Given the description of an element on the screen output the (x, y) to click on. 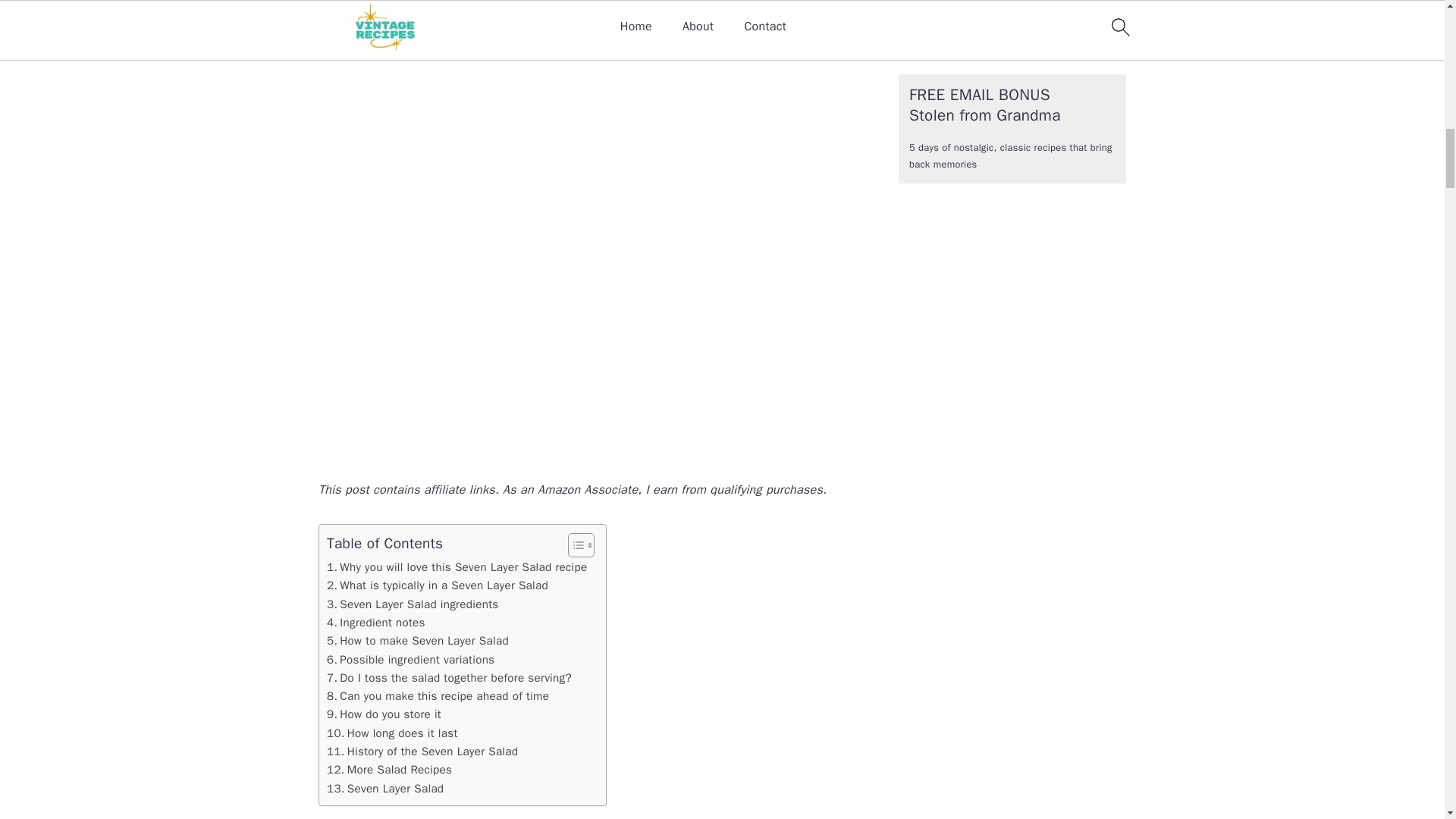
How to make Seven Layer Salad (417, 640)
How do you store it (383, 714)
Can you make this recipe ahead of time (437, 696)
Ingredient notes (375, 622)
Seven Layer Salad ingredients (412, 604)
